Given the description of an element on the screen output the (x, y) to click on. 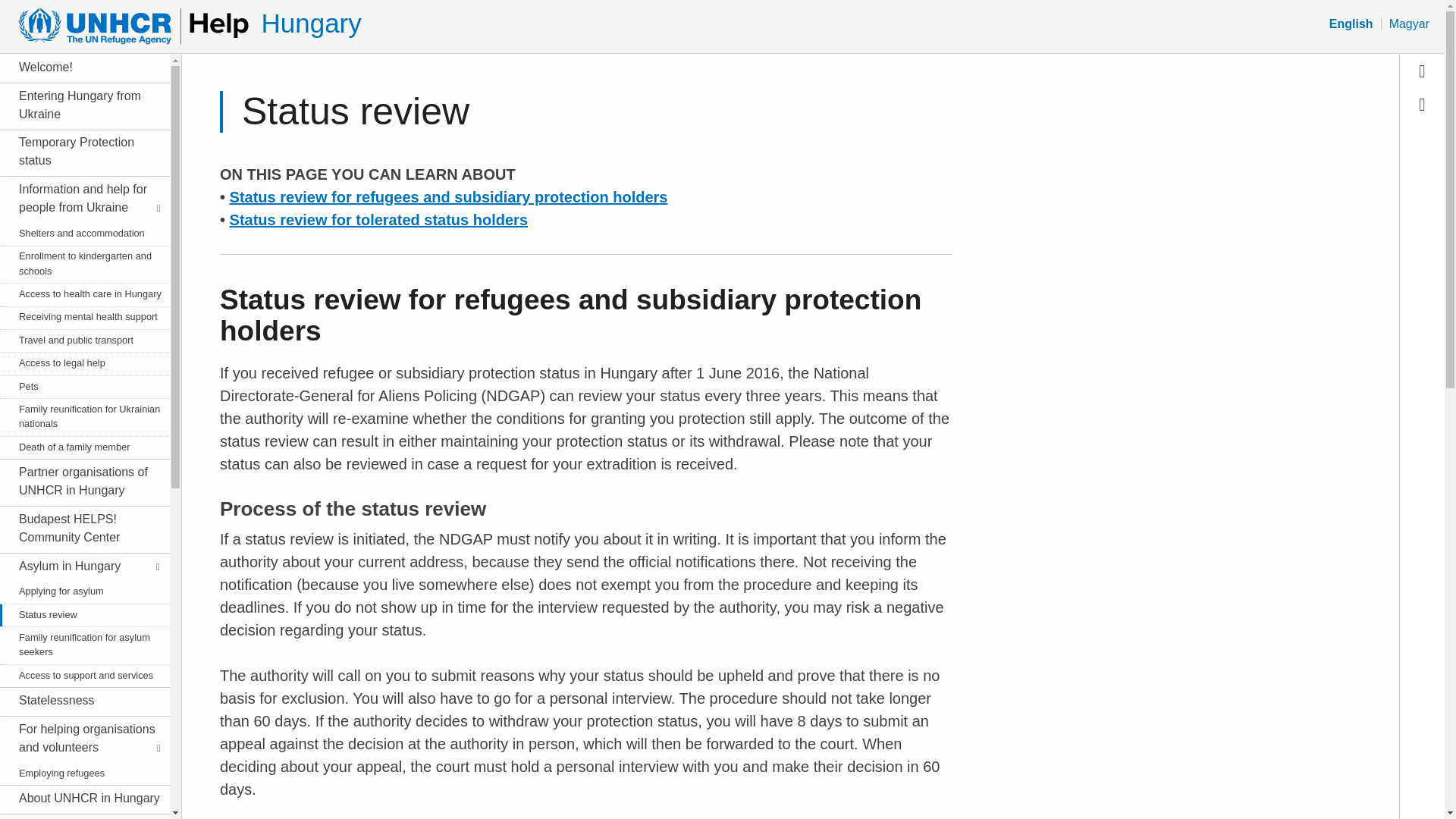
Asylum in Hungary (81, 566)
Death of a family member (81, 446)
Magyar (1409, 24)
Status review (81, 614)
Family reunification for asylum seekers (81, 644)
Employing refugees (81, 772)
UNHCR (127, 26)
Welcome! (81, 67)
Access to health care in Hungary (81, 293)
Applying for asylum (81, 590)
